Given the description of an element on the screen output the (x, y) to click on. 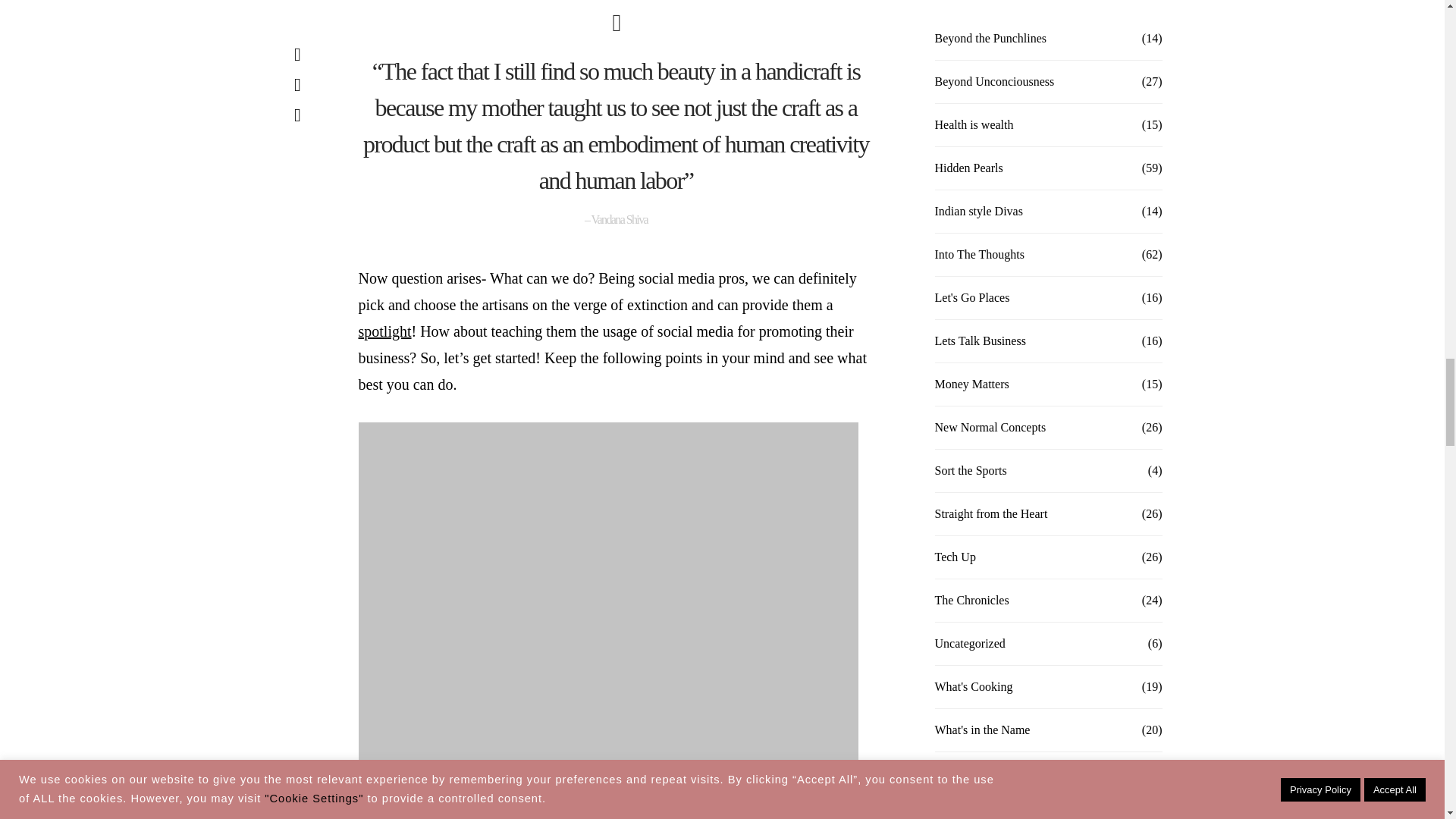
spotlight (384, 330)
